Given the description of an element on the screen output the (x, y) to click on. 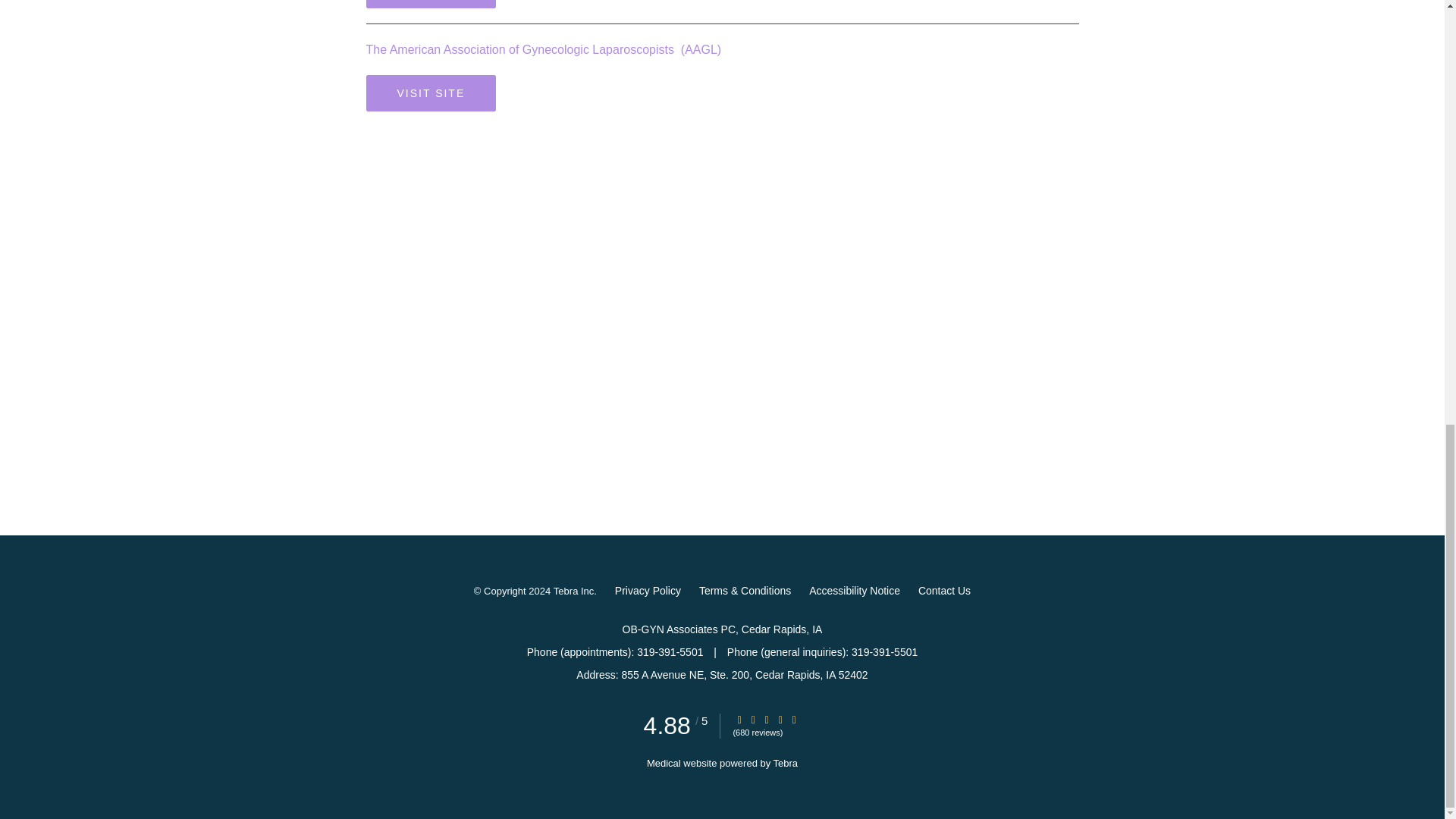
Star Rating (780, 719)
Star Rating (766, 719)
Star Rating (794, 719)
Star Rating (738, 719)
Star Rating (753, 719)
